Given the description of an element on the screen output the (x, y) to click on. 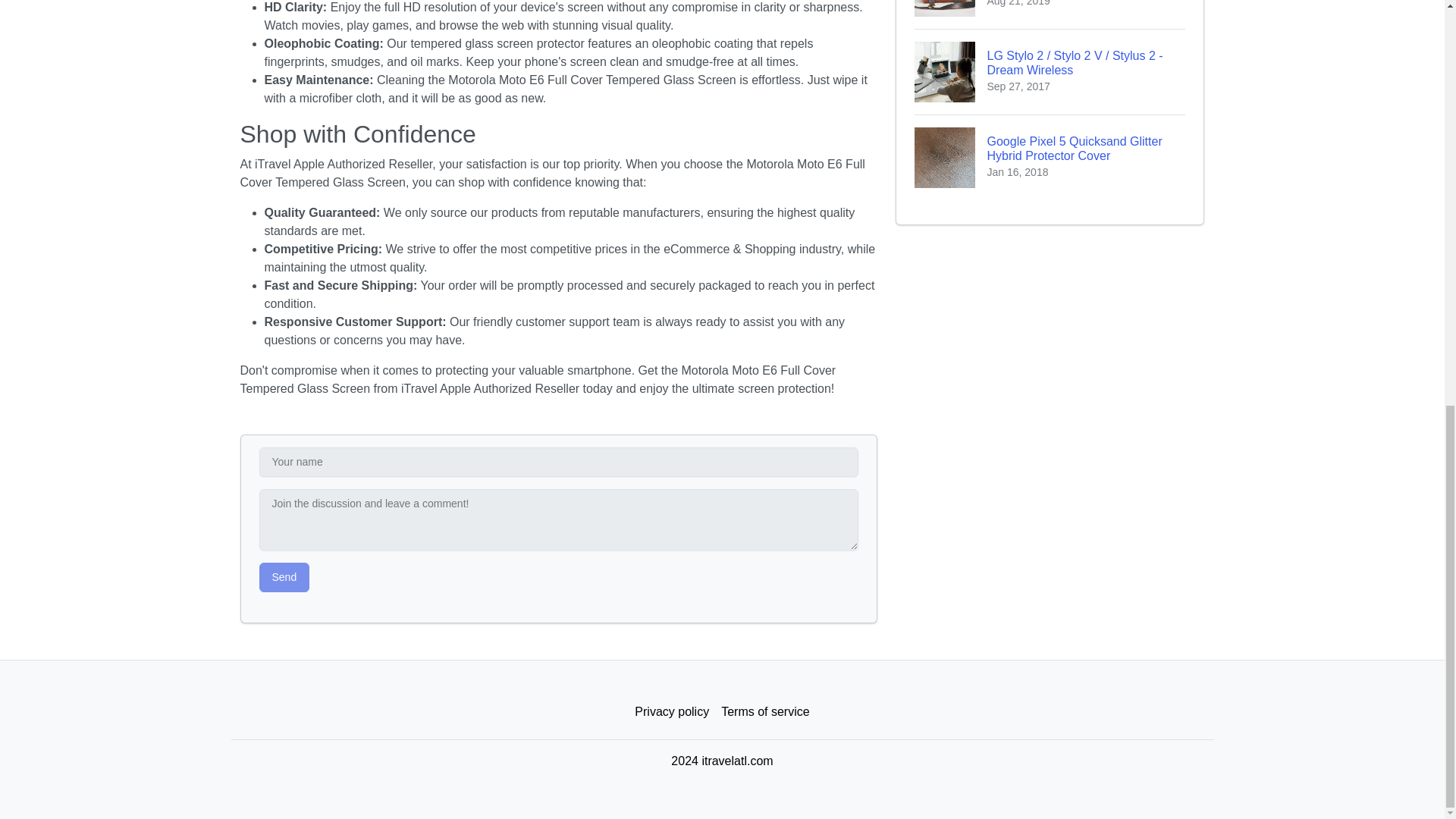
Send (284, 577)
Send (284, 577)
Privacy policy (671, 711)
